Given the description of an element on the screen output the (x, y) to click on. 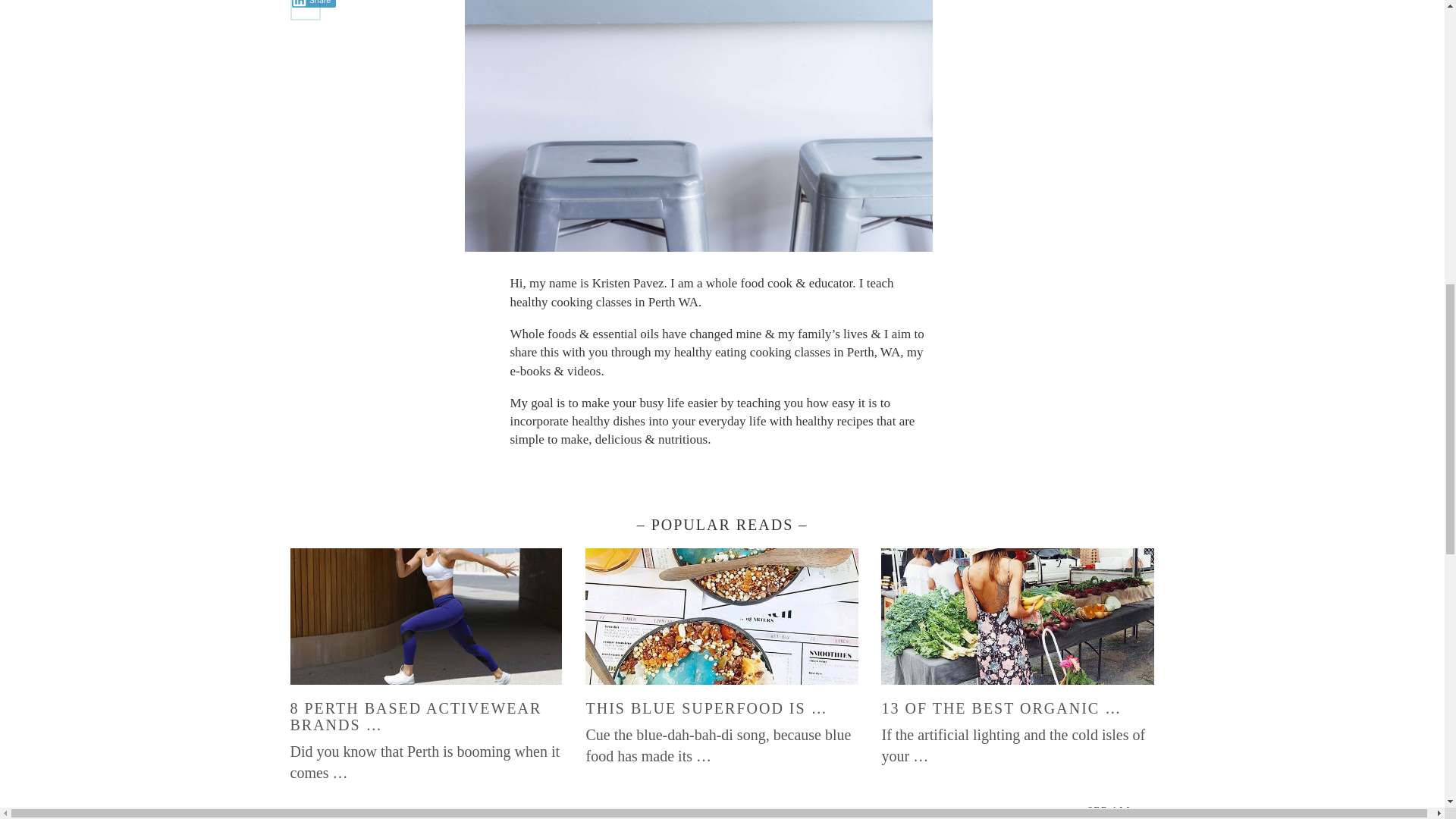
8 Perth Based Activewear Brands You Need to Know About (425, 716)
This Blue Superfood is Taking Over Perth (706, 708)
